Given the description of an element on the screen output the (x, y) to click on. 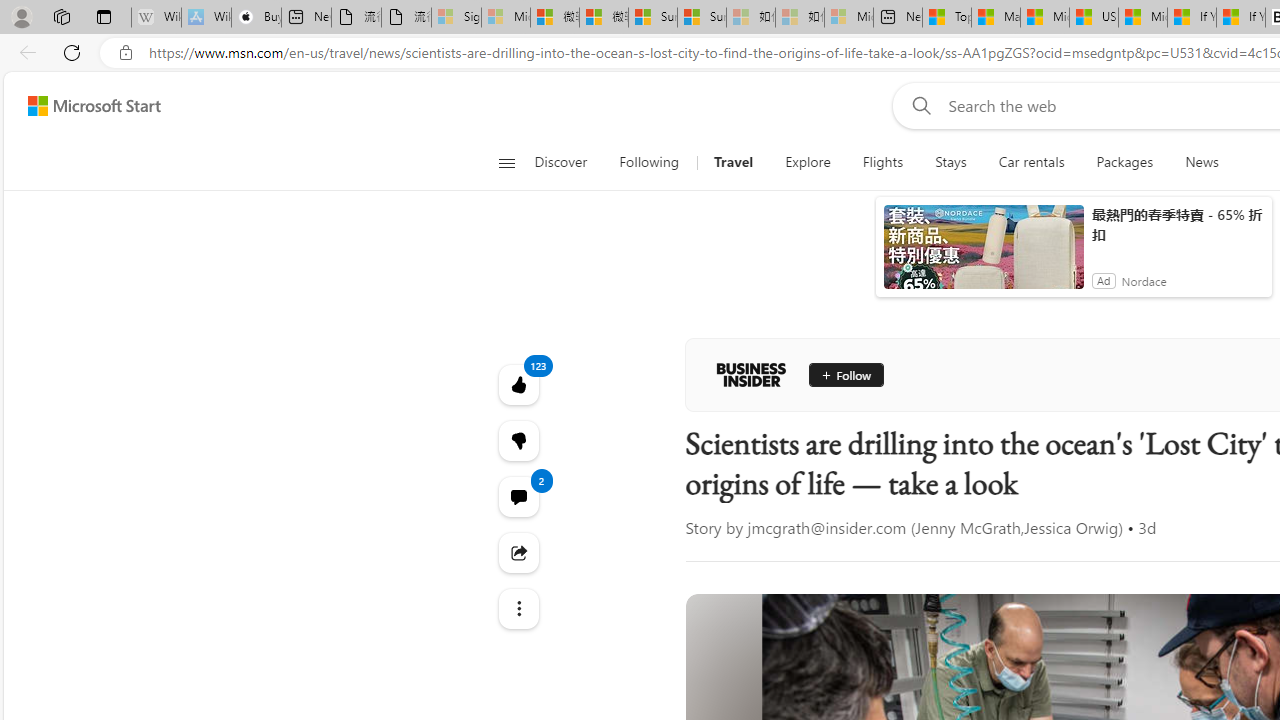
Follow (845, 374)
View comments 2 Comment (517, 496)
Flights (883, 162)
Microsoft account | Account Checkup - Sleeping (848, 17)
123 (517, 440)
